Given the description of an element on the screen output the (x, y) to click on. 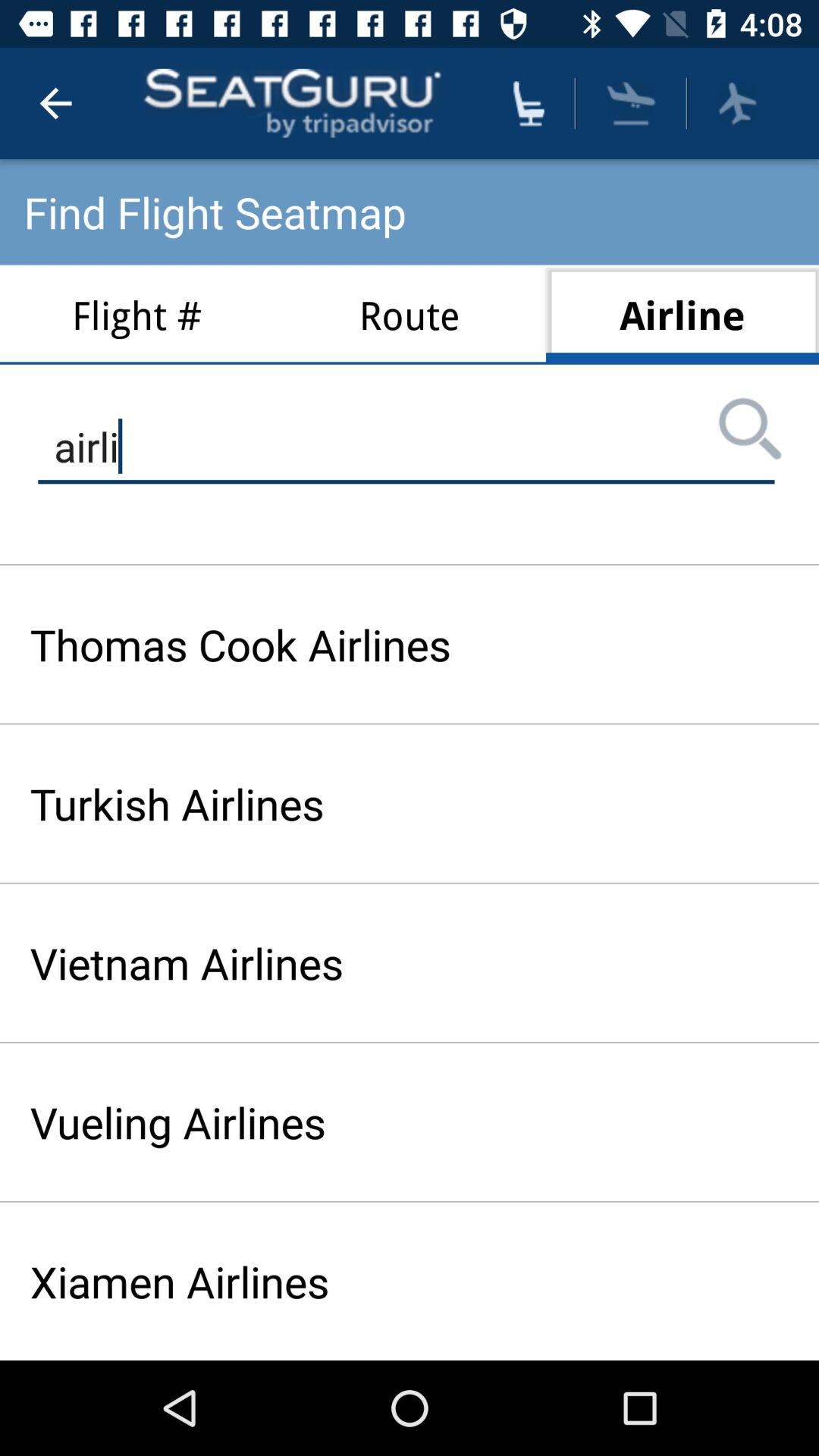
select airline button (630, 103)
